Given the description of an element on the screen output the (x, y) to click on. 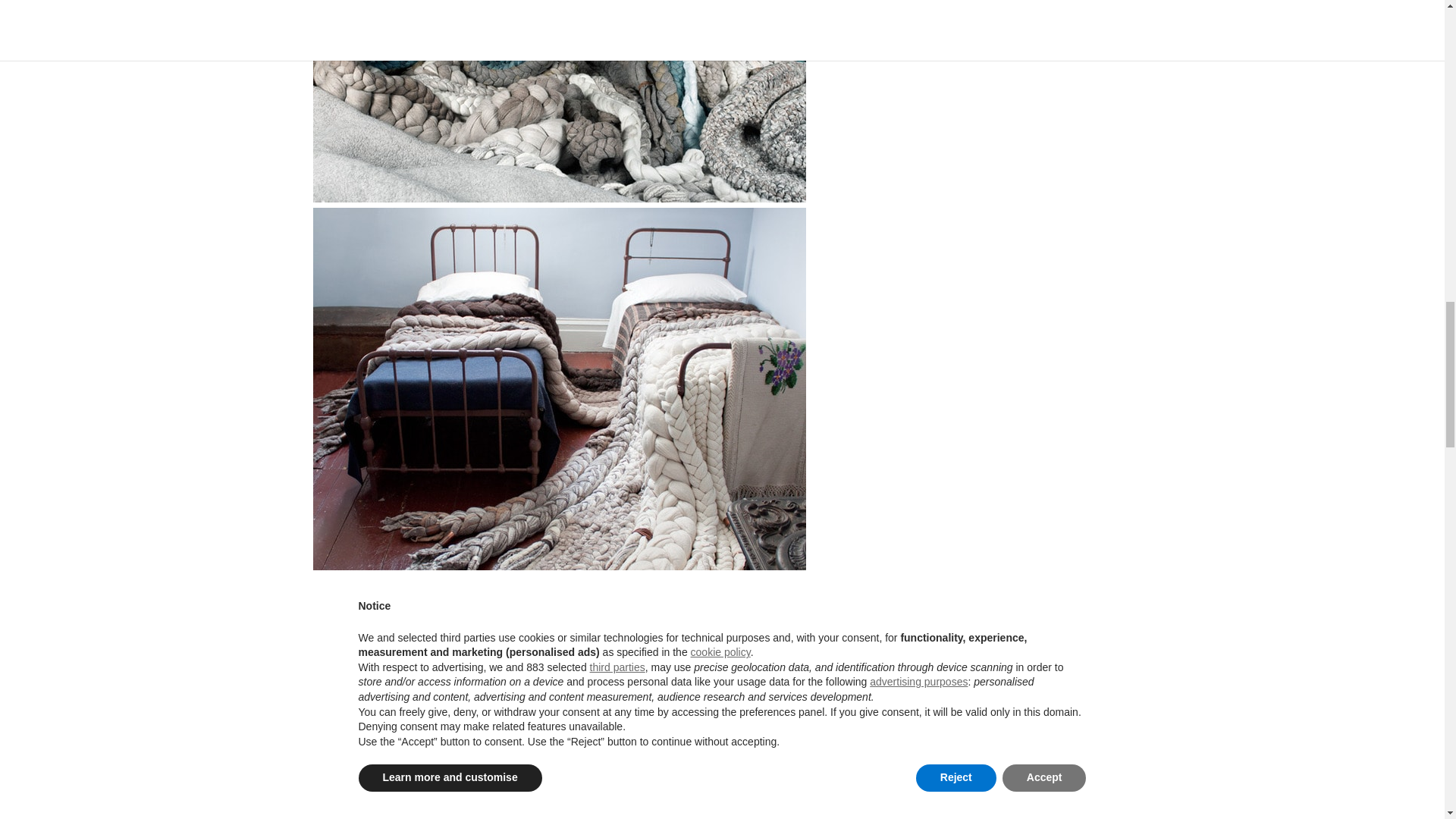
 - COVER magazine (559, 101)
 - COVER magazine (559, 770)
